Given the description of an element on the screen output the (x, y) to click on. 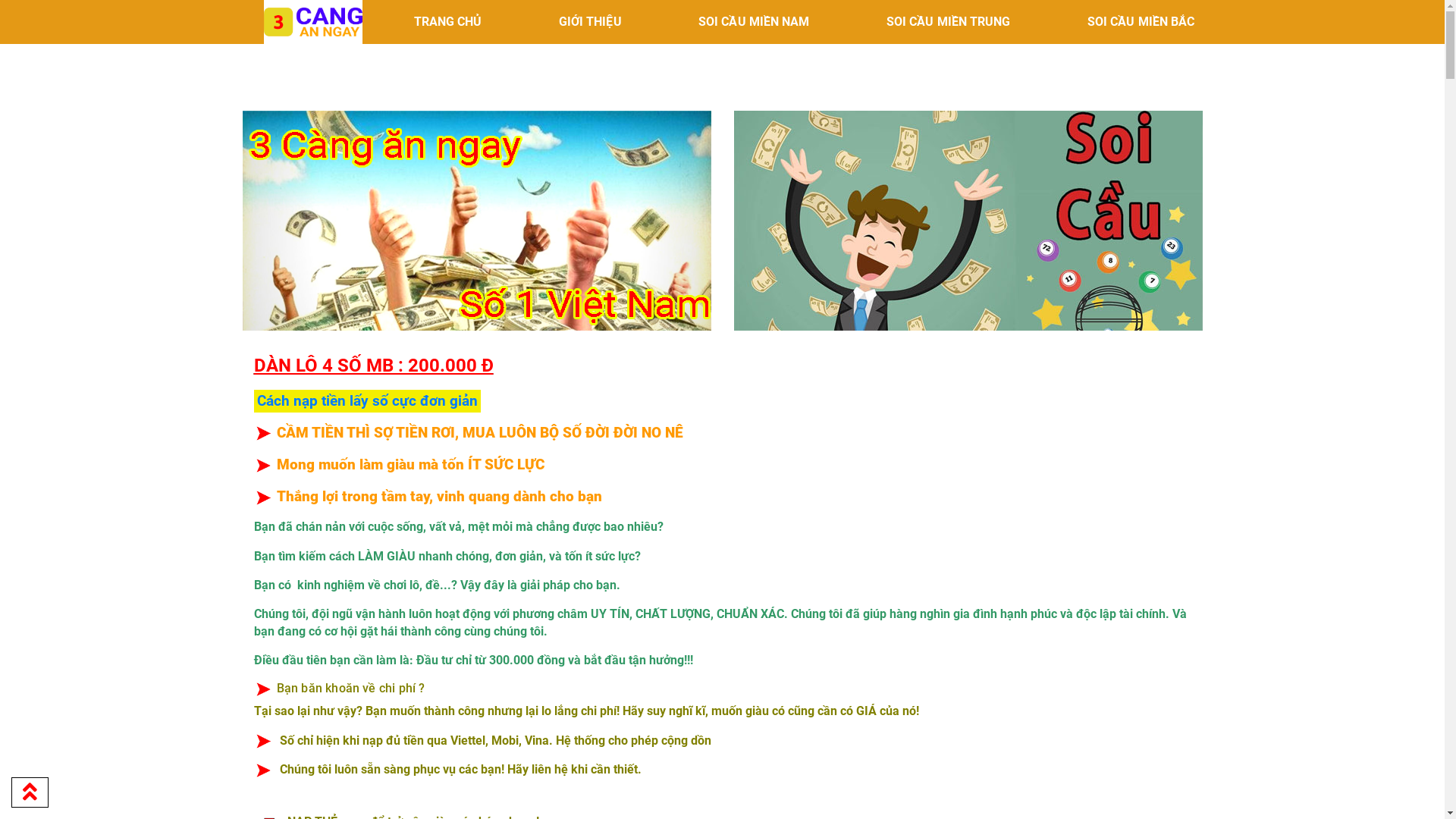
Go to top Element type: hover (29, 792)
